Given the description of an element on the screen output the (x, y) to click on. 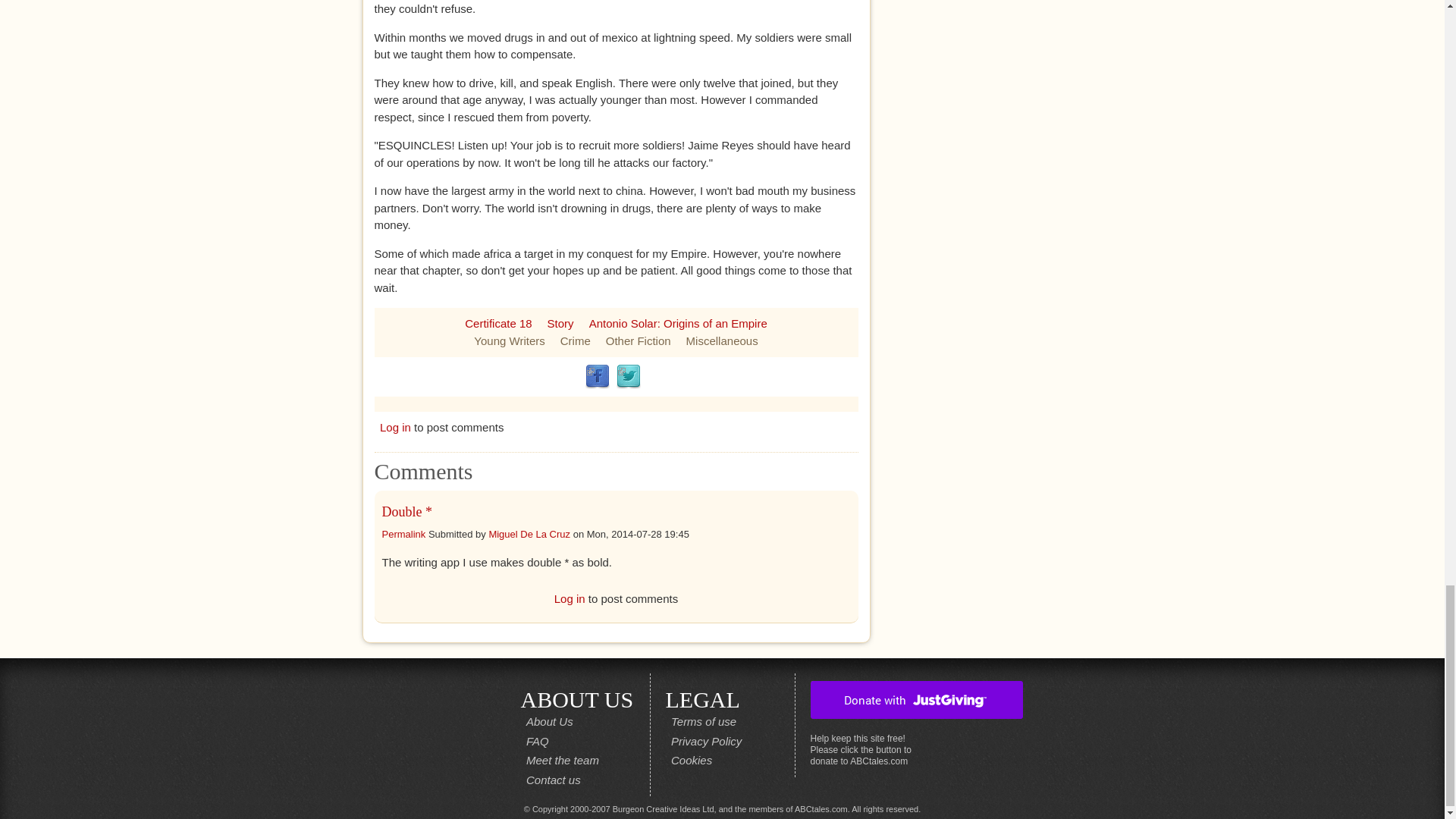
Certificate 18 (497, 323)
Antonio Solar: Origins of an Empire (678, 323)
Log in (395, 427)
Permalink (403, 533)
View user profile. (528, 533)
Miguel De La Cruz (528, 533)
Miscellaneous (721, 340)
Story (560, 323)
Crime (575, 340)
Other Fiction (638, 340)
